Given the description of an element on the screen output the (x, y) to click on. 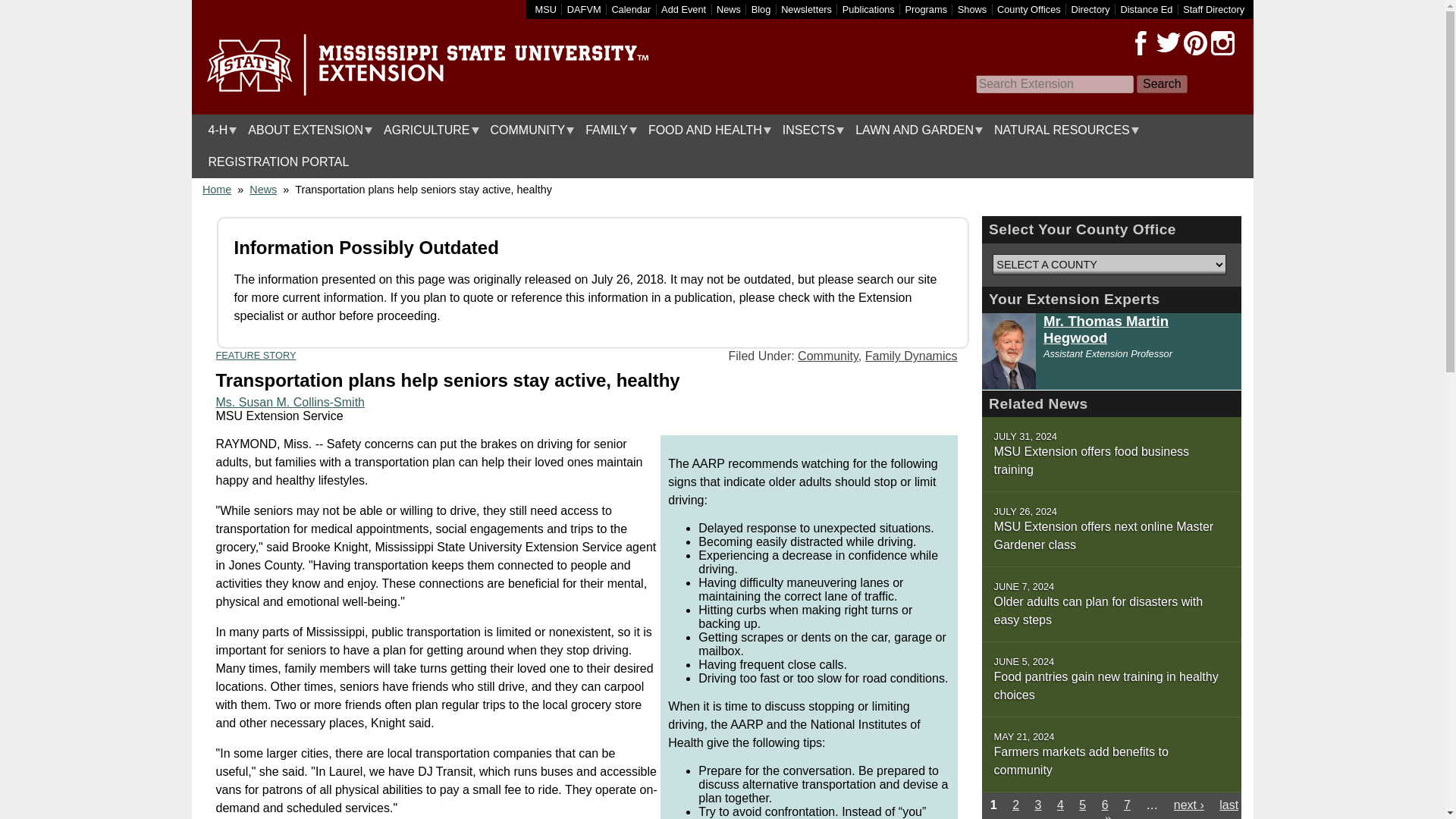
Find a county extension office (1029, 9)
Shows (972, 9)
Distance Ed (1145, 9)
Add Event (683, 9)
Programs (926, 9)
4-H (218, 130)
Calendar (630, 9)
Newsletters (805, 9)
MSU (545, 9)
